Given the description of an element on the screen output the (x, y) to click on. 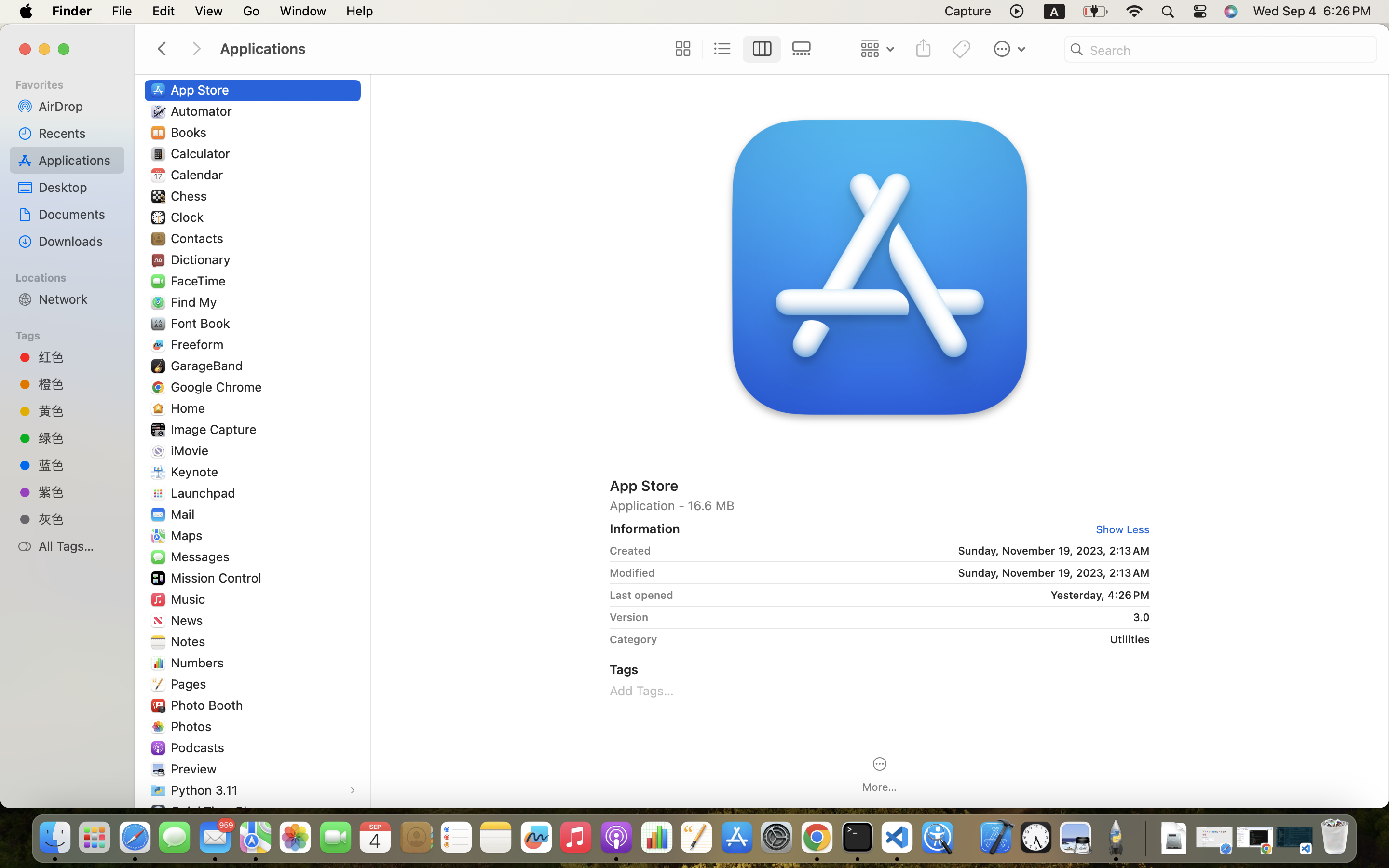
Calculator Element type: AXTextField (202, 153)
Automator Element type: AXTextField (203, 110)
App Store Element type: AXTextField (201, 89)
iMovie Element type: AXTextField (191, 450)
AirDrop Element type: AXStaticText (77, 105)
